Given the description of an element on the screen output the (x, y) to click on. 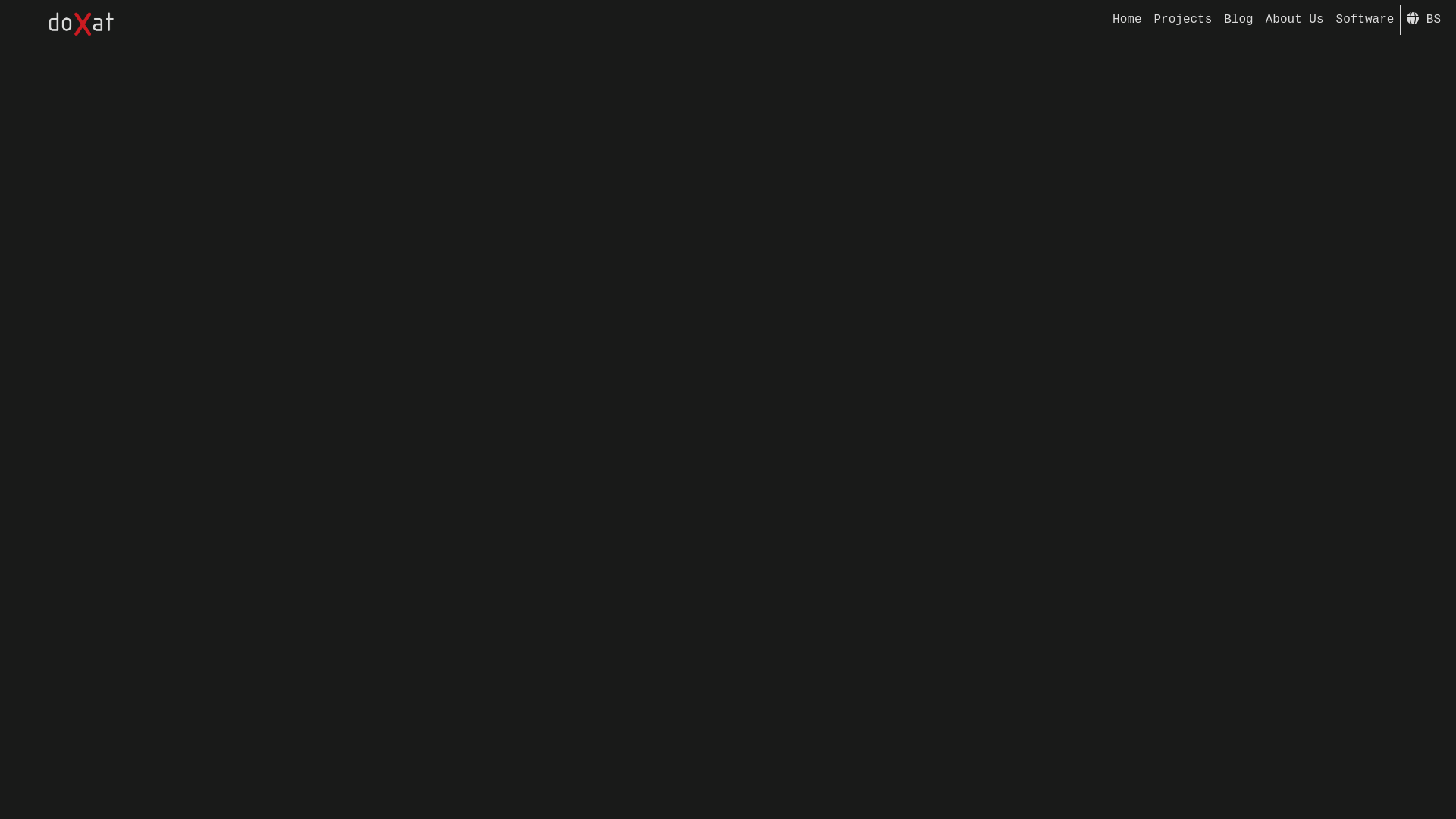
Blog Element type: text (1362, 51)
BS Element type: text (1427, 46)
